Given the description of an element on the screen output the (x, y) to click on. 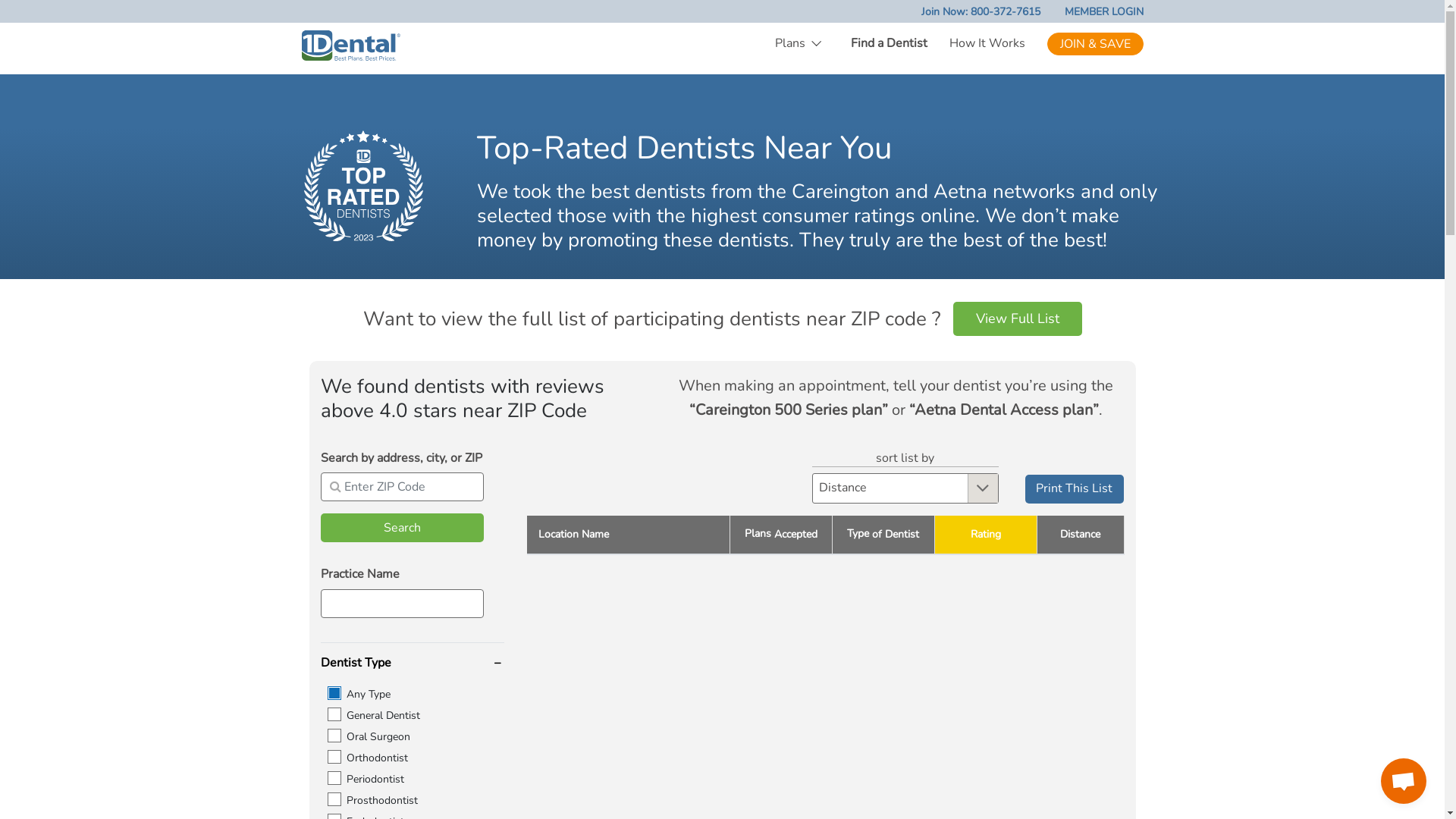
Print This List Element type: text (1074, 488)
Search Element type: text (401, 527)
Find a Dentist Element type: text (883, 43)
Dentist Type Element type: text (355, 662)
View Full List Element type: text (1016, 318)
MEMBER LOGIN Element type: text (1091, 11)
How It Works Element type: text (981, 43)
Plans Element type: text (796, 43)
JOIN & SAVE Element type: text (1094, 42)
Join Now: 800-372-7615 Element type: text (967, 11)
